Given the description of an element on the screen output the (x, y) to click on. 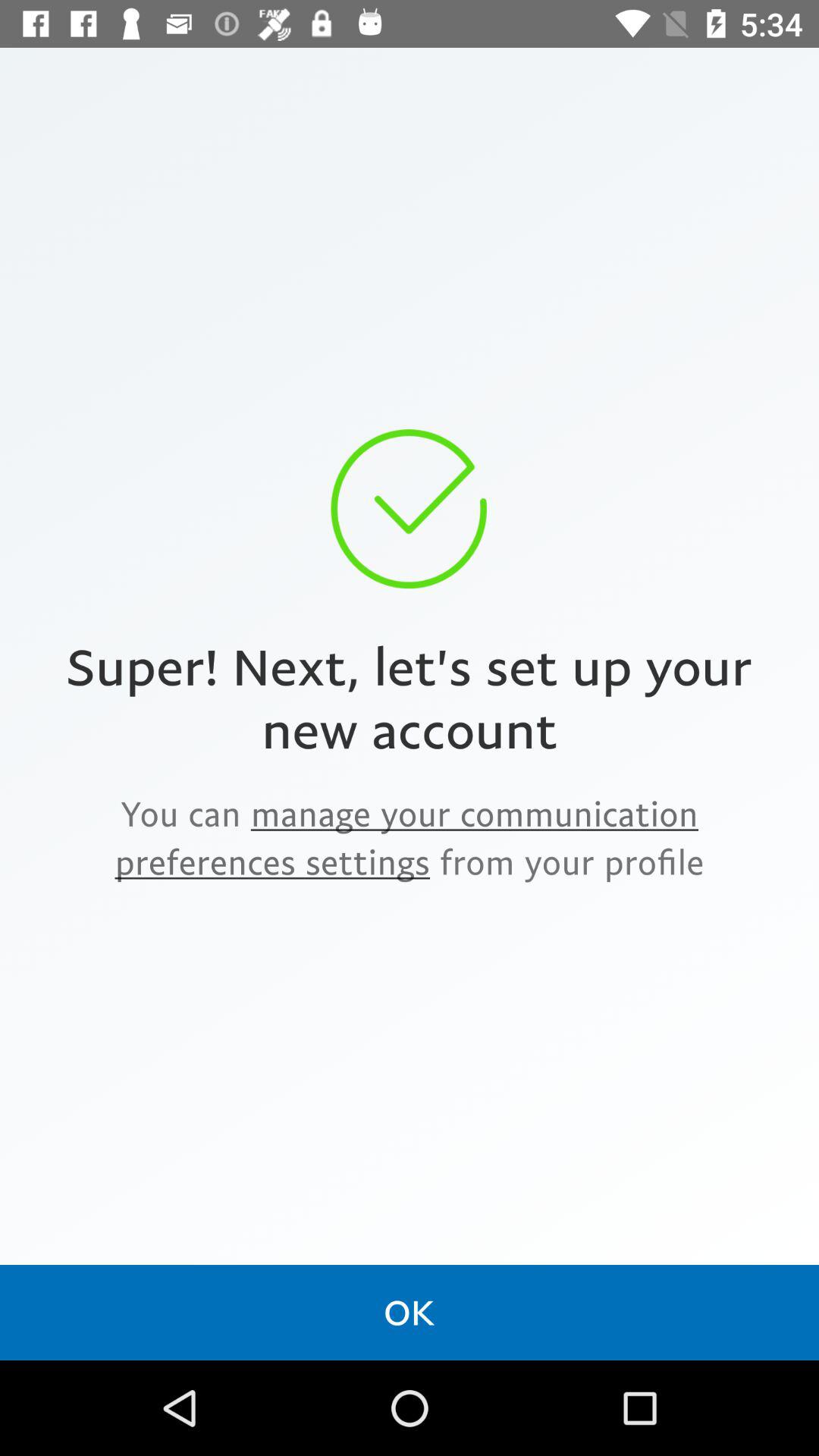
flip until the ok icon (409, 1312)
